Given the description of an element on the screen output the (x, y) to click on. 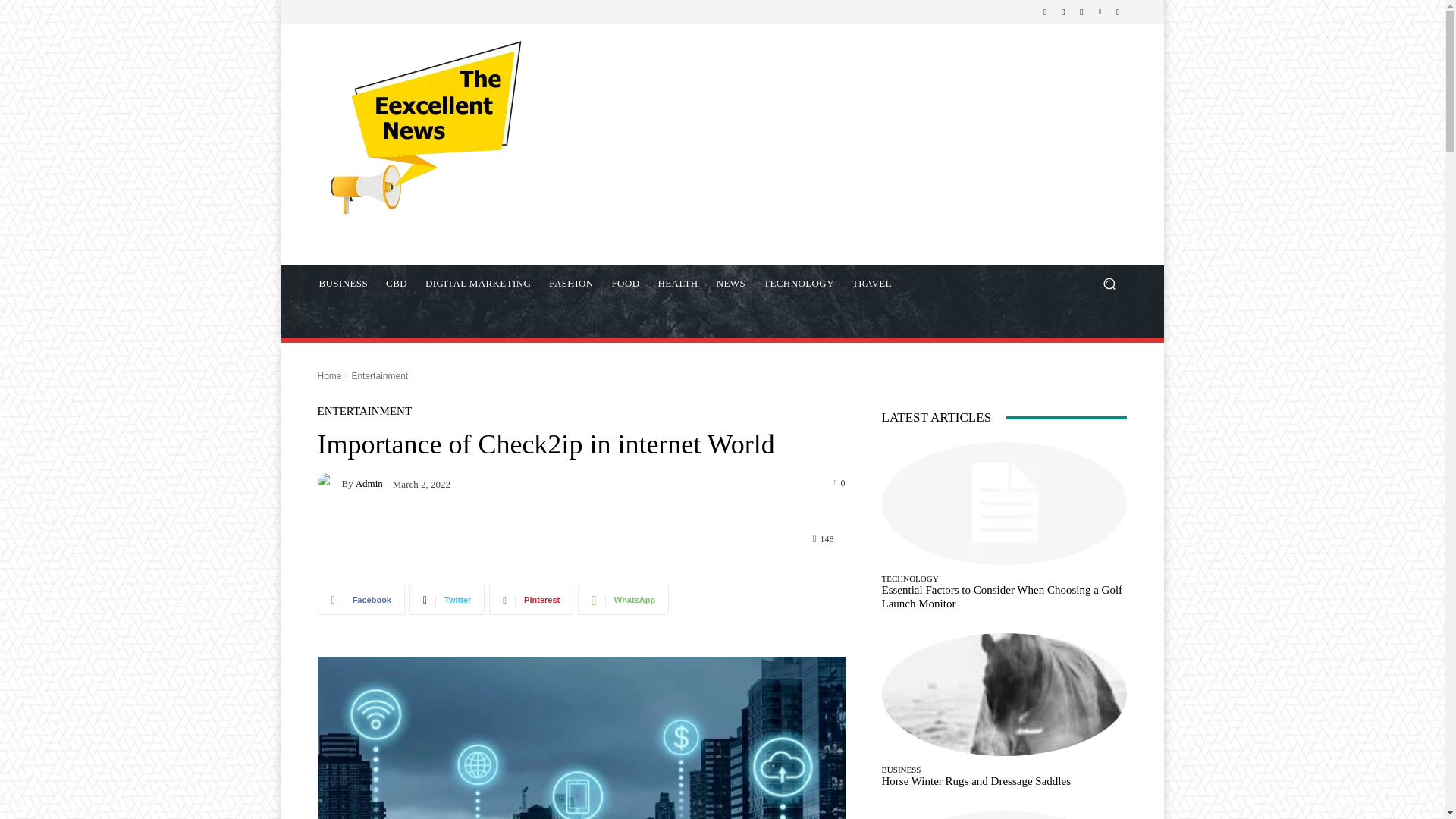
TRAVEL (872, 283)
DIGITAL MARKETING (478, 283)
Admin (328, 483)
TECHNOLOGY (798, 283)
NEWS (730, 283)
Twitter (446, 599)
FOOD (624, 283)
BUSINESS (342, 283)
Youtube (1117, 12)
CBD (396, 283)
Facebook (1044, 12)
Twitter (1080, 12)
Home (328, 376)
Pinterest (531, 599)
Instagram (1062, 12)
